Given the description of an element on the screen output the (x, y) to click on. 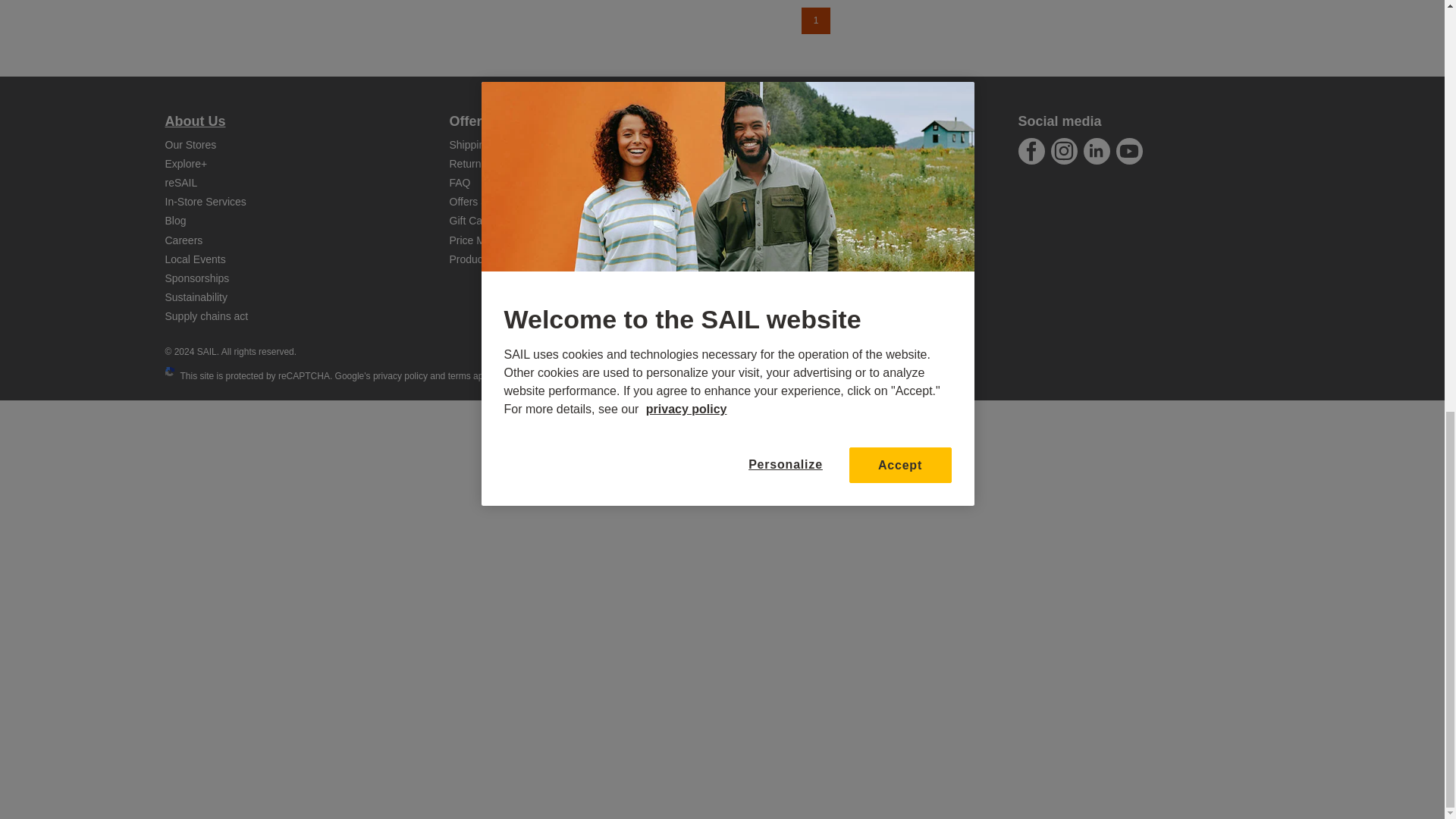
Local Events (195, 259)
Plateform for second-hand products (181, 182)
Rewards Program (186, 163)
Career (184, 240)
Our Stores (190, 144)
Sail Blog (175, 220)
In-Store Services (205, 201)
